Given the description of an element on the screen output the (x, y) to click on. 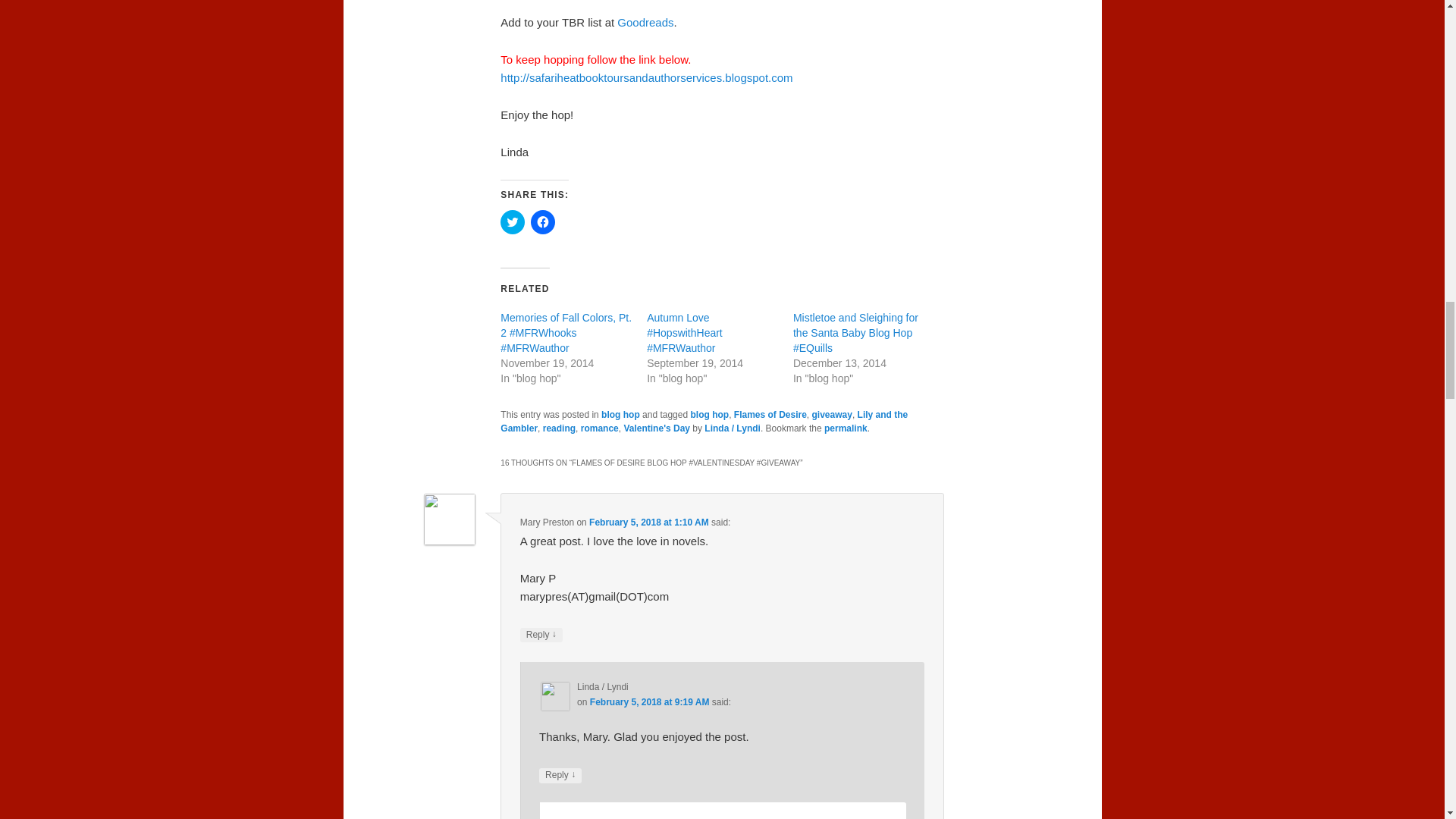
blog hop (620, 414)
Goodreads (644, 21)
Click to share on Twitter (512, 221)
Click to share on Facebook (542, 221)
